Given the description of an element on the screen output the (x, y) to click on. 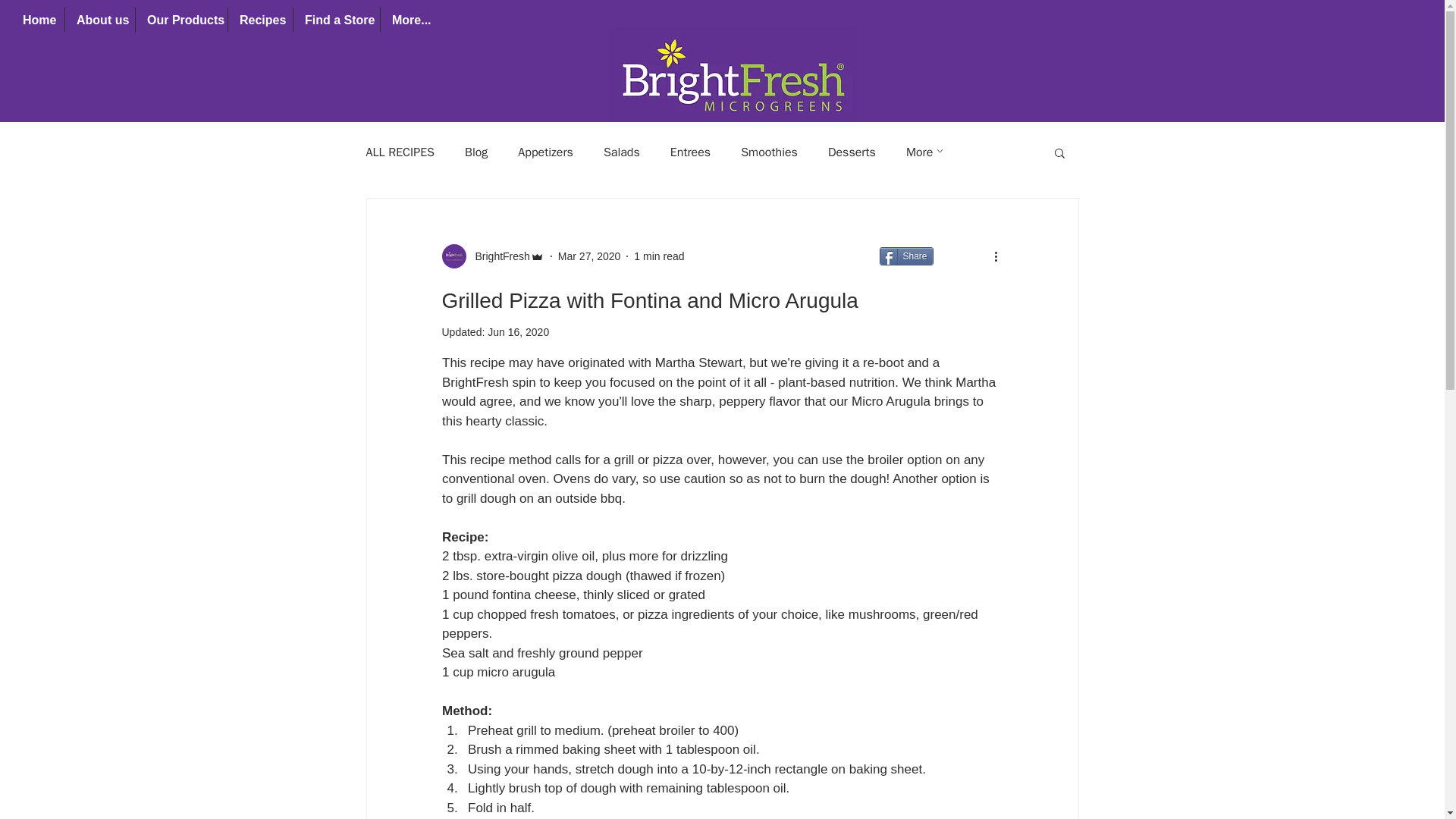
Share (906, 256)
Appetizers (545, 151)
Recipes (259, 19)
Smoothies (769, 151)
Desserts (852, 151)
Jun 16, 2020 (517, 331)
Entrees (689, 151)
Salads (622, 151)
About us (99, 19)
Home (37, 19)
1 min read (658, 256)
Mar 27, 2020 (589, 256)
Find a Store (336, 19)
BrightFresh (497, 256)
Our Products (181, 19)
